Given the description of an element on the screen output the (x, y) to click on. 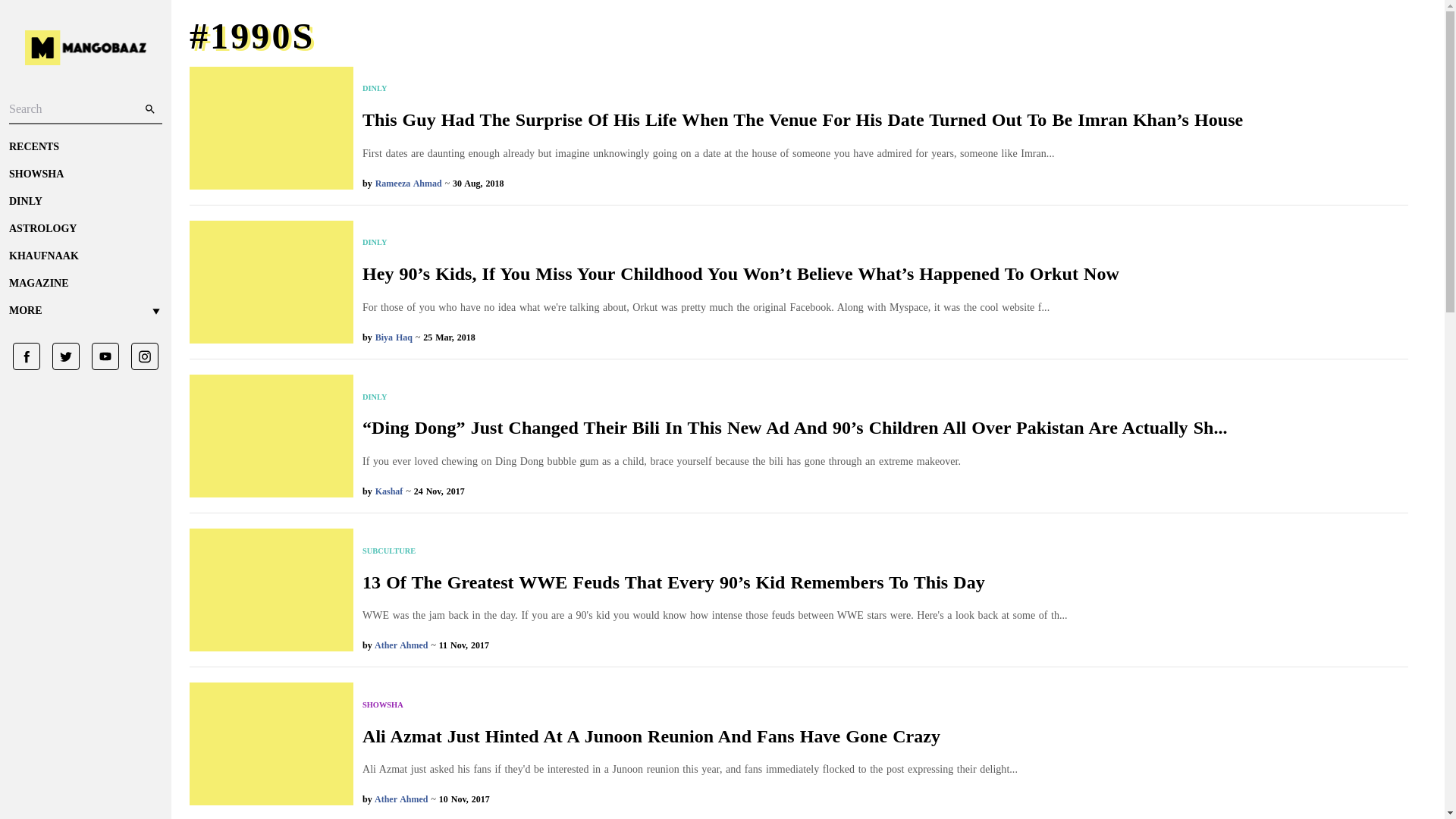
DINLY (794, 397)
Link to Youtube (99, 356)
DINLY (84, 201)
MORE (84, 310)
ASTROLOGY (84, 228)
Link to Facebook (26, 356)
KHAUFNAAK (84, 256)
MangoBaaz Magazine (84, 283)
DINLY (740, 242)
Link to Instagram (138, 356)
Link to Twitter (60, 356)
Biya Haq (393, 337)
RECENTS (84, 146)
MAGAZINE (84, 283)
DINLY (802, 88)
